Given the description of an element on the screen output the (x, y) to click on. 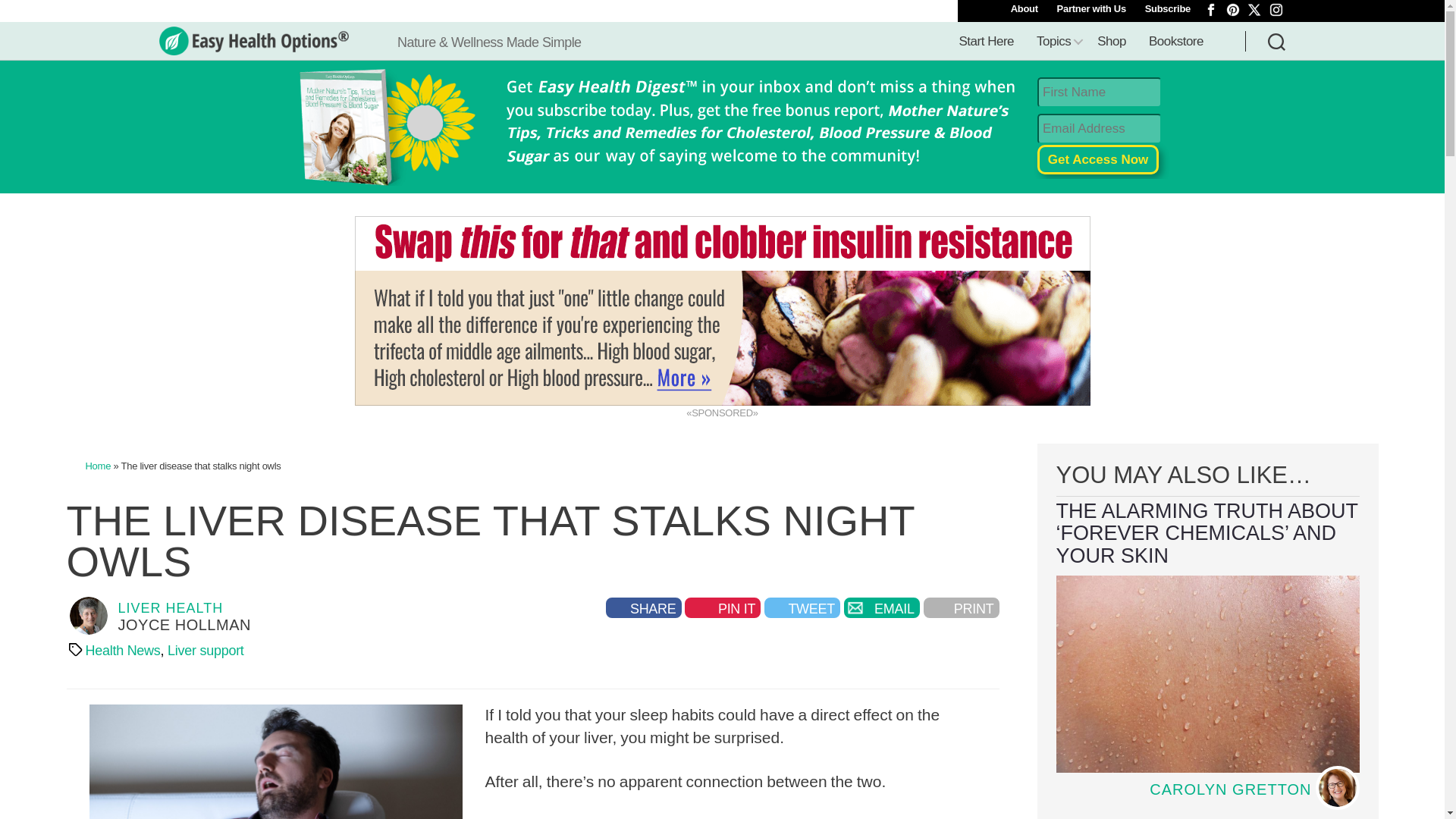
Start Here (986, 41)
Partner with Us (1091, 9)
Topics (1055, 41)
About (1024, 9)
Subscribe (1167, 9)
Shop (1111, 41)
Bookstore (1175, 41)
